Given the description of an element on the screen output the (x, y) to click on. 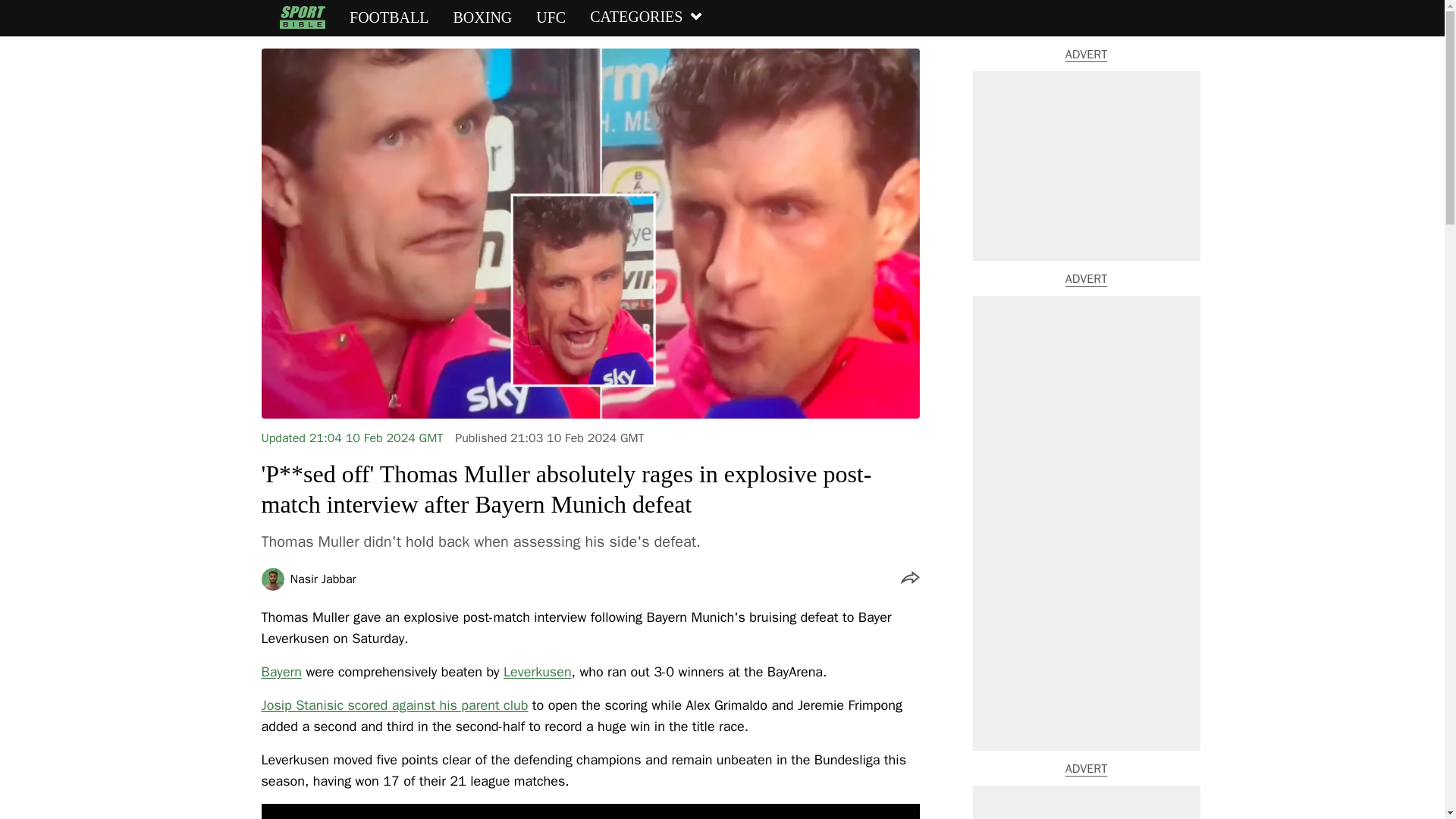
BOXING (482, 17)
FOOTBALL (388, 17)
